Given the description of an element on the screen output the (x, y) to click on. 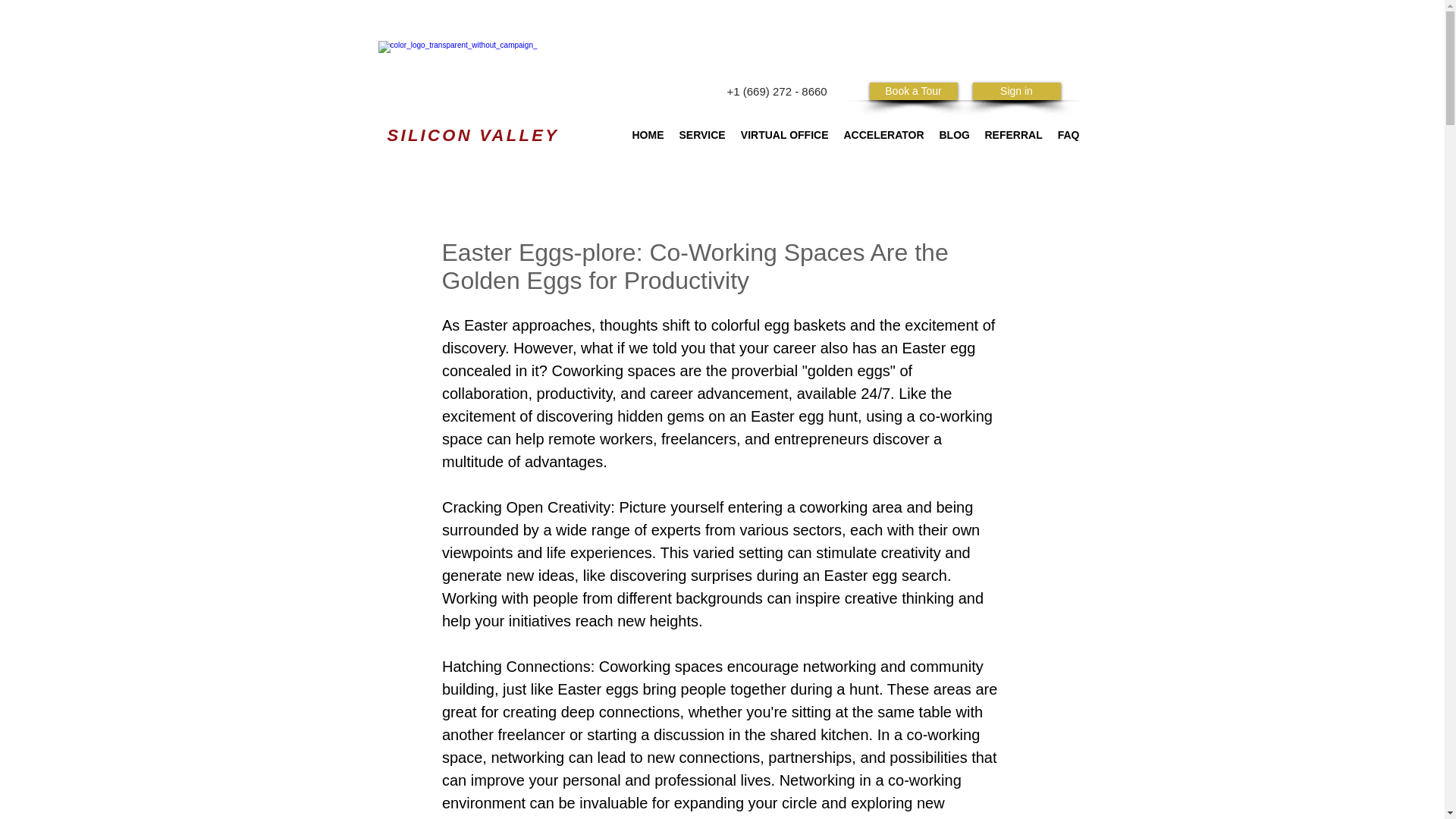
Book a Tour (912, 90)
Sign in (1015, 90)
FAQ (1067, 135)
ACCELERATOR (883, 135)
HOME (647, 135)
REFERRAL (1012, 135)
BLOG (953, 135)
SERVICE (702, 135)
VIRTUAL OFFICE (783, 135)
